Given the description of an element on the screen output the (x, y) to click on. 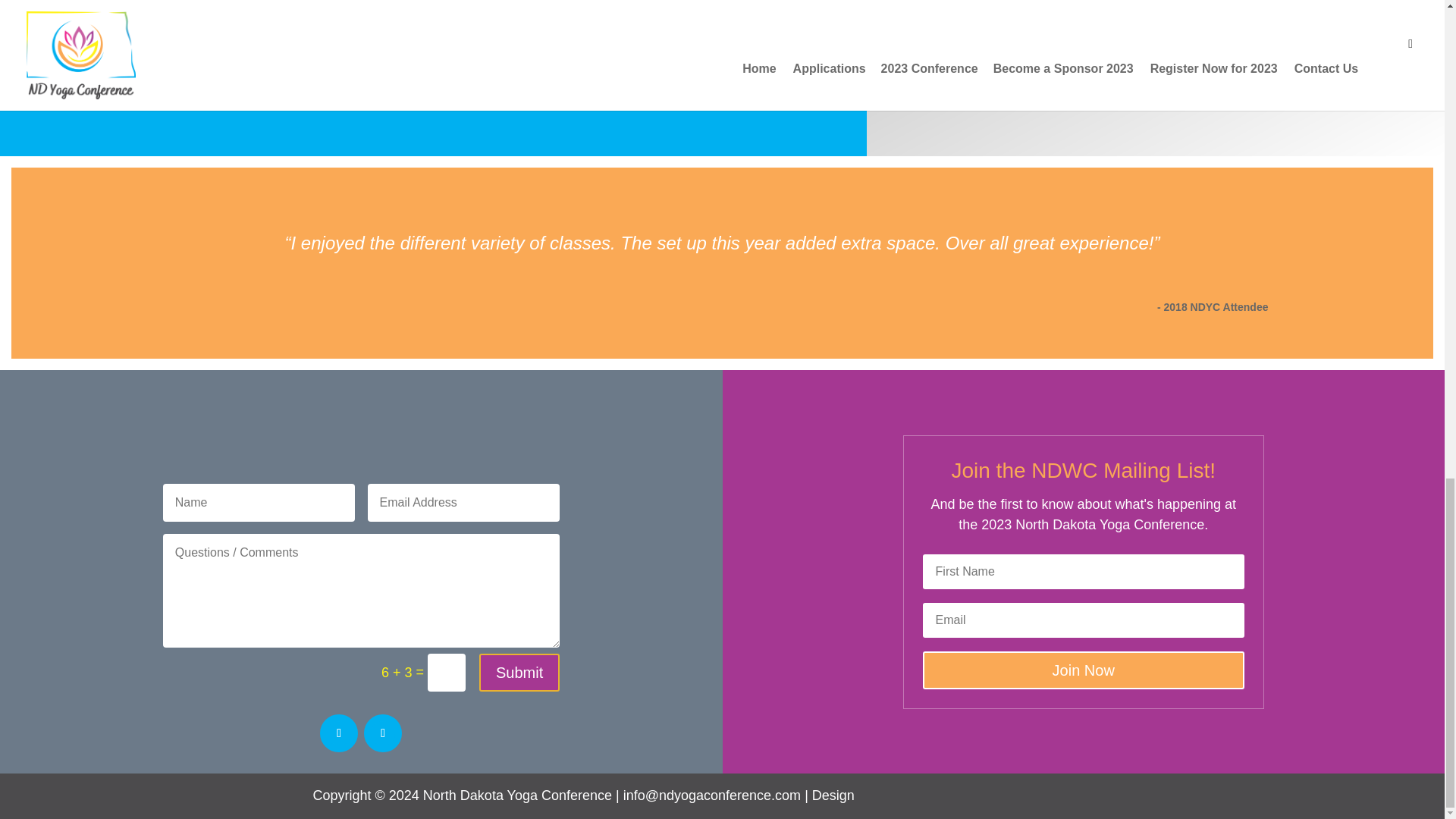
Follow on Facebook (339, 733)
Design (833, 795)
Follow on Instagram (382, 733)
Submit (519, 672)
Join Now (1083, 670)
